Given the description of an element on the screen output the (x, y) to click on. 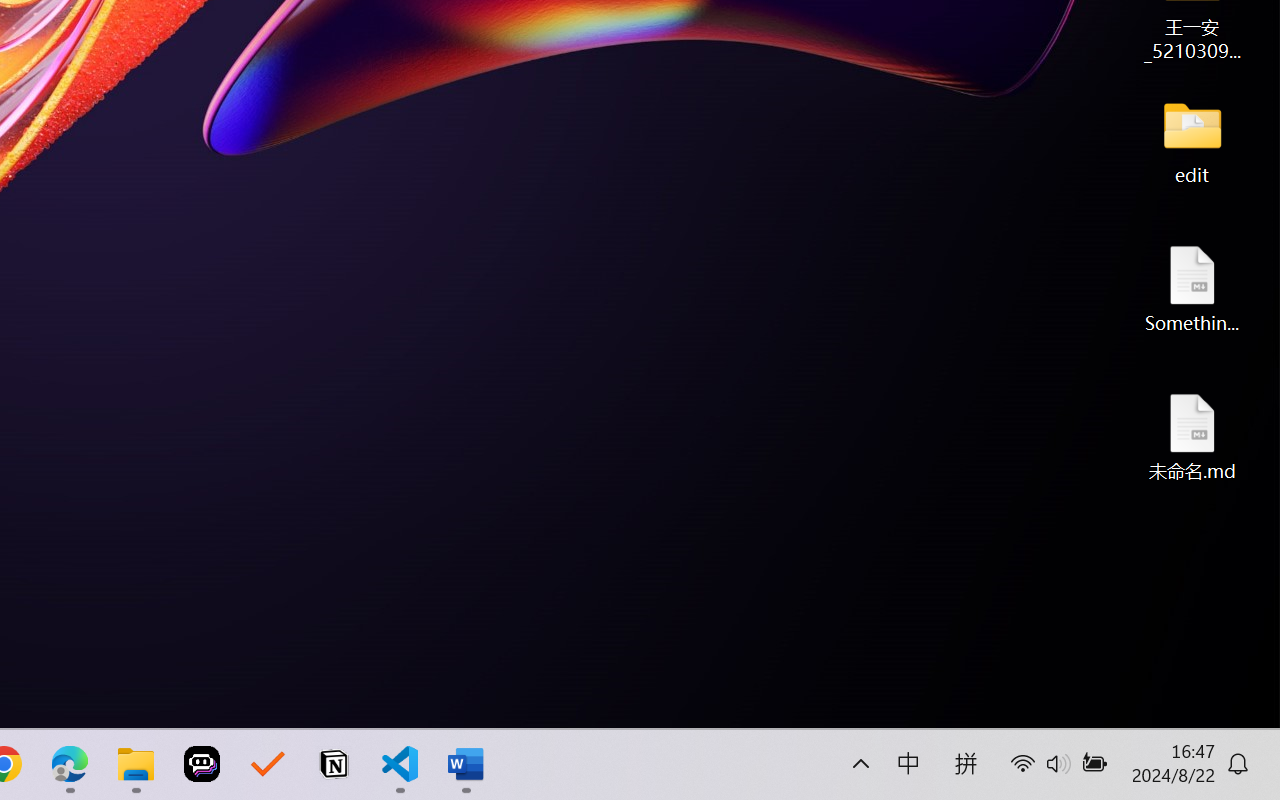
broadcast Go Live, Click to run live server (752, 705)
3.10.4 ('py310': conda), D:\anaconda\envs\py310\python.exe (545, 705)
warning 31 Spell, Issues: 31 "auto.py" is spell checked. (1132, 705)
loading~spin, Show Copilot status menu (855, 705)
